Given the description of an element on the screen output the (x, y) to click on. 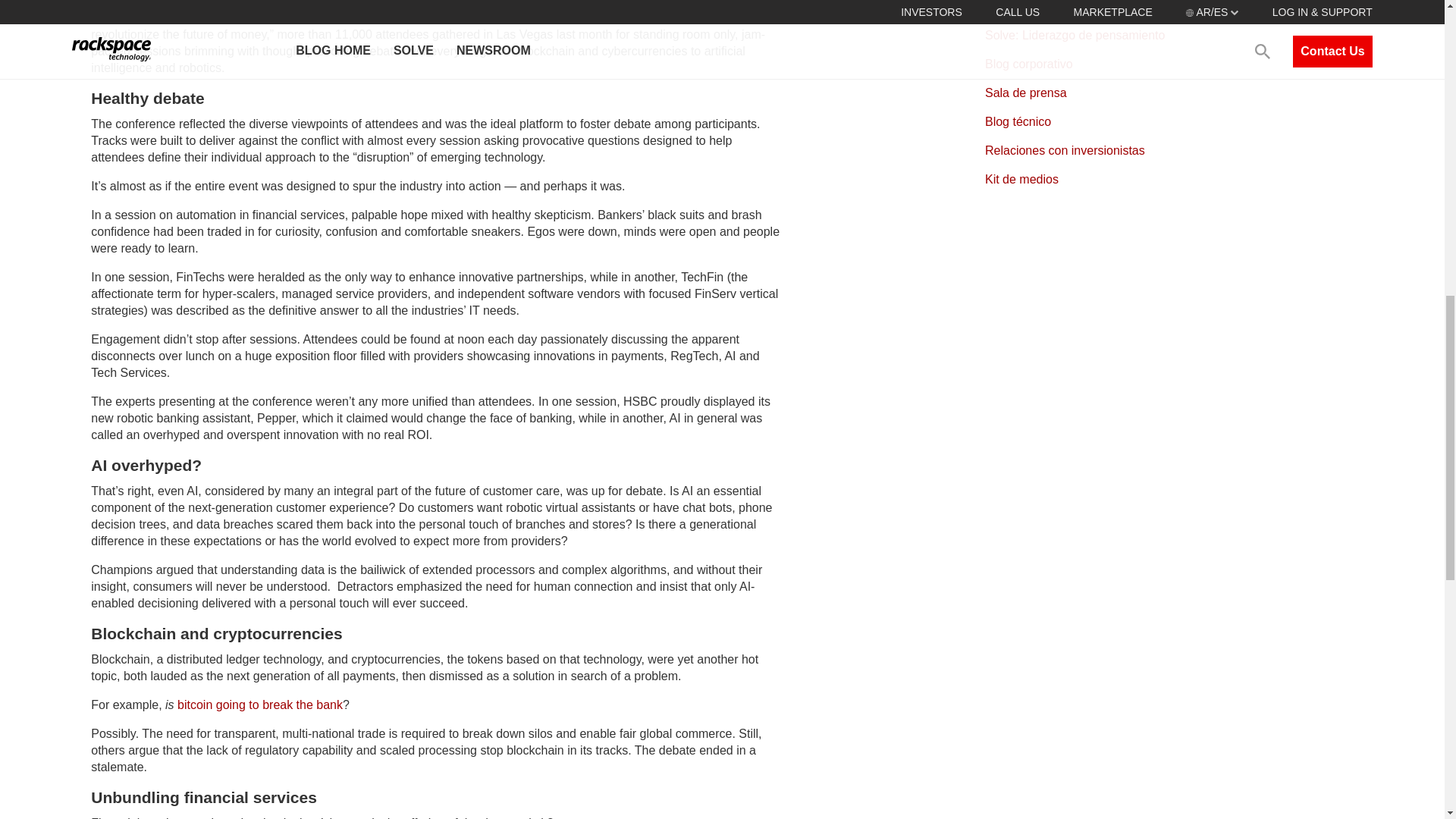
Blog corporativo (1029, 63)
Solve: Liderazgo de pensamiento (1075, 34)
Relaciones con inversionistas (1064, 150)
Kit de medios (1021, 178)
bitcoin going to break the bank (258, 704)
Sala de prensa (1026, 92)
